Given the description of an element on the screen output the (x, y) to click on. 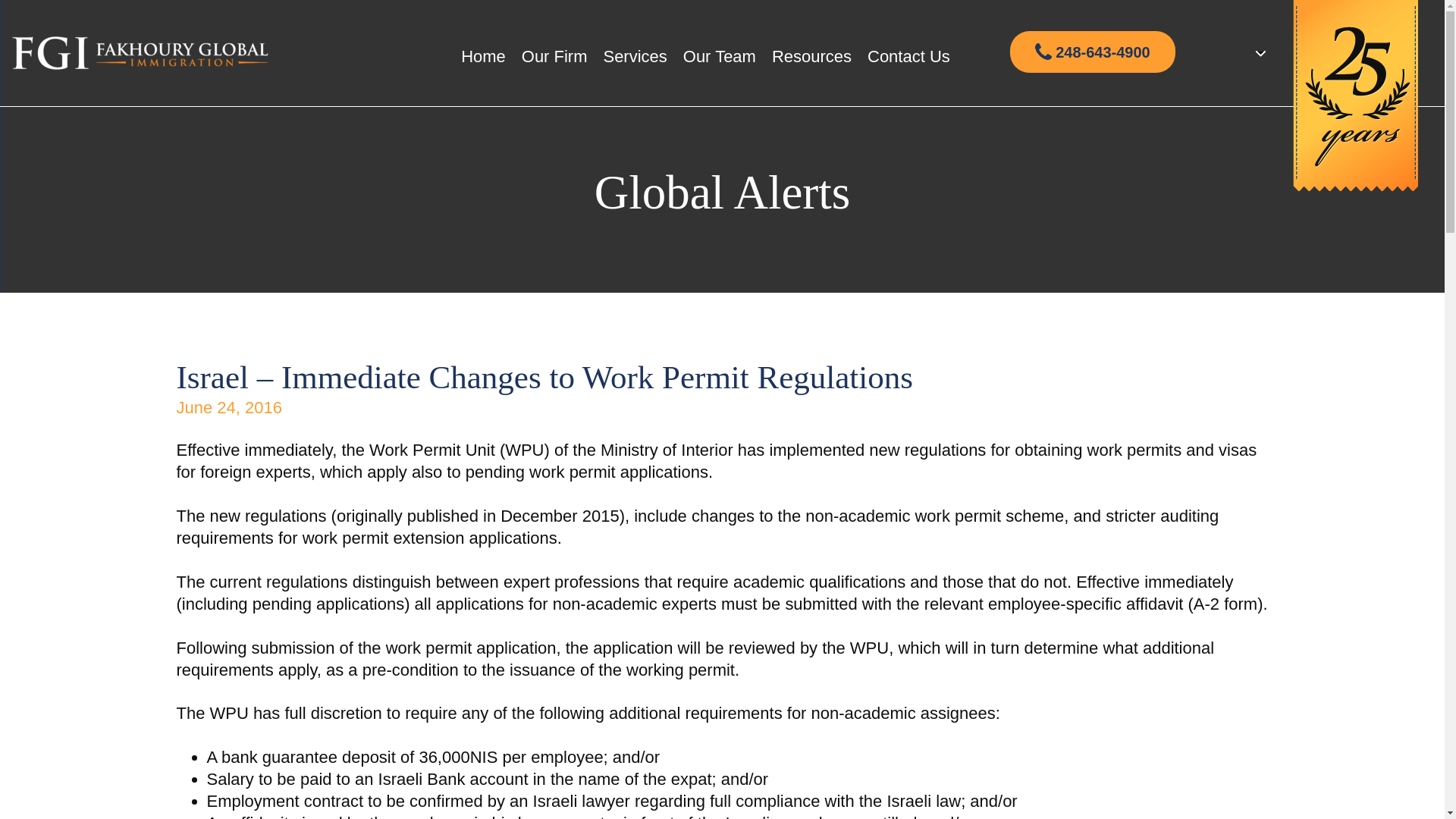
248-643-4900 (1092, 51)
Resources (811, 56)
Fakhoury Law Group, PC (140, 53)
Our Team (718, 56)
Contact Us (908, 56)
Our Firm (554, 56)
Home (483, 56)
Services (634, 56)
